Given the description of an element on the screen output the (x, y) to click on. 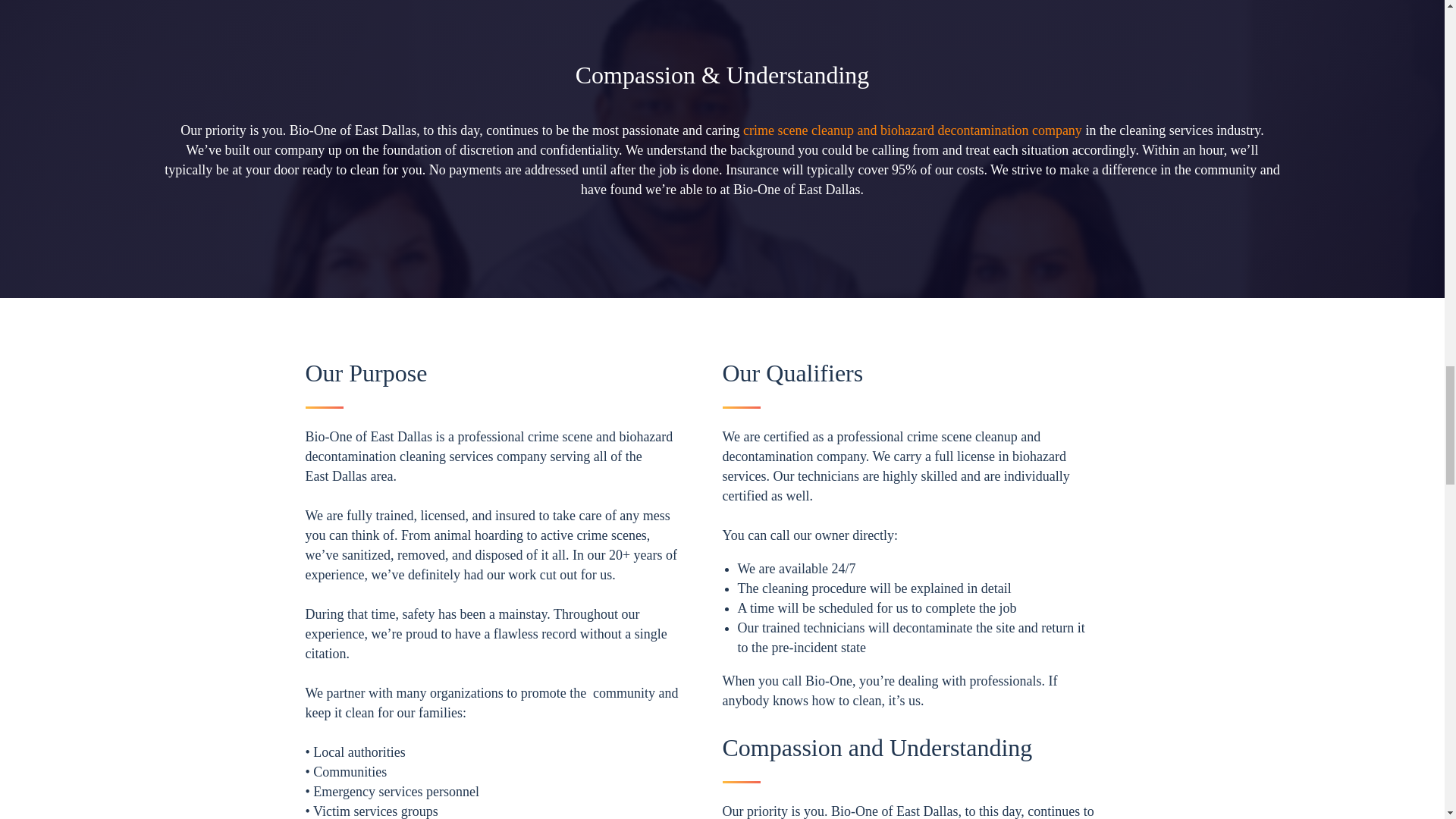
crime scene cleanup and biohazard decontamination company (911, 130)
